Given the description of an element on the screen output the (x, y) to click on. 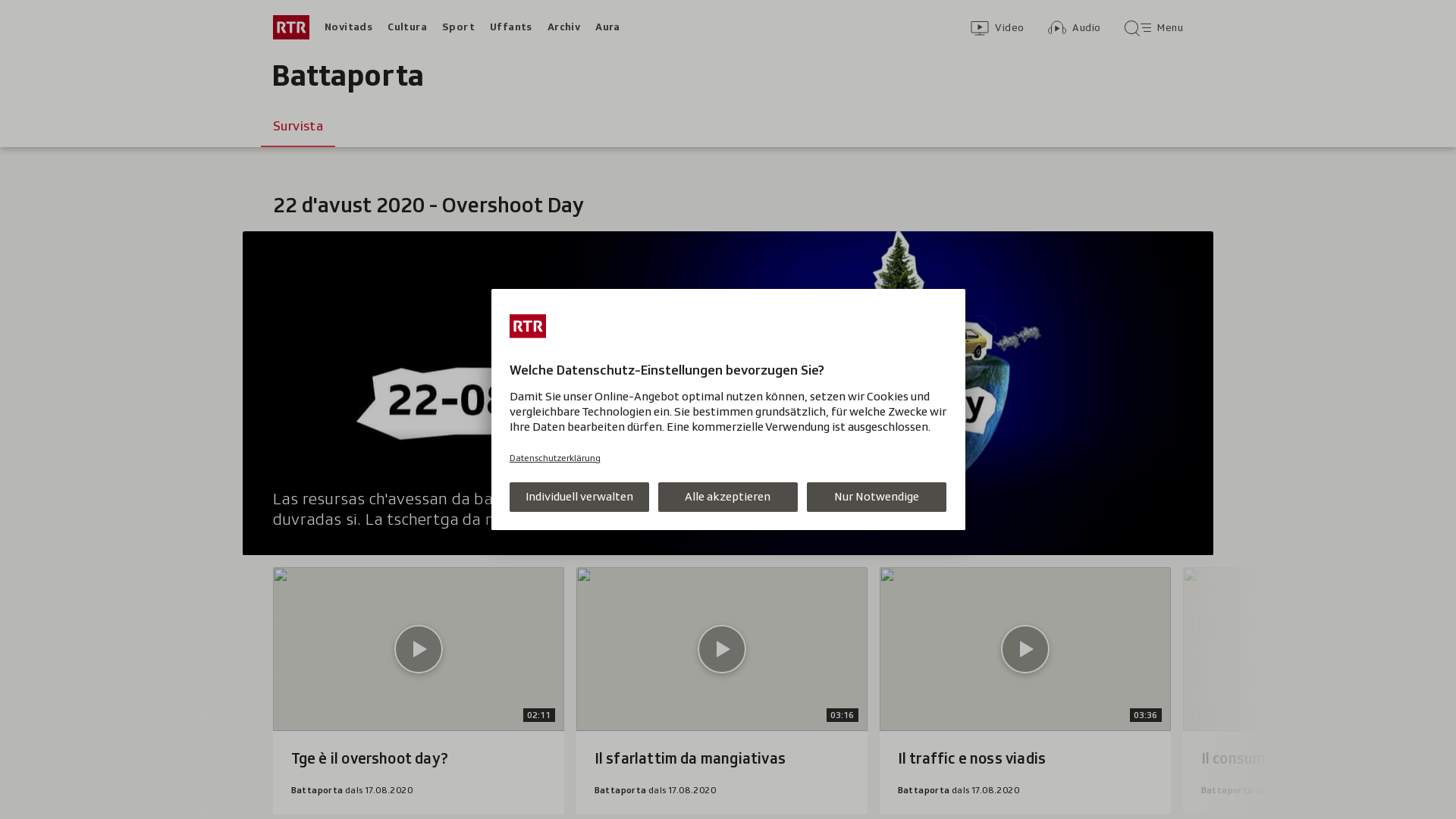
Survista
, punct da navigaziun activ Element type: text (297, 125)
Battaporta
Survista Element type: text (347, 75)
Archiv Element type: text (563, 27)
Survista video
Video Element type: text (996, 27)
Uffants Element type: text (510, 27)
Novitads Element type: text (347, 27)
Cultura Element type: text (406, 27)
Tar la pagina iniziala da Radiotelevisiun Svizra Rumantscha Element type: text (291, 27)
Survista audio
Audio Element type: text (1073, 27)
Aura Element type: text (607, 27)
Menu principal / tschertga
Menu Element type: text (1153, 27)
Sport Element type: text (458, 27)
